Given the description of an element on the screen output the (x, y) to click on. 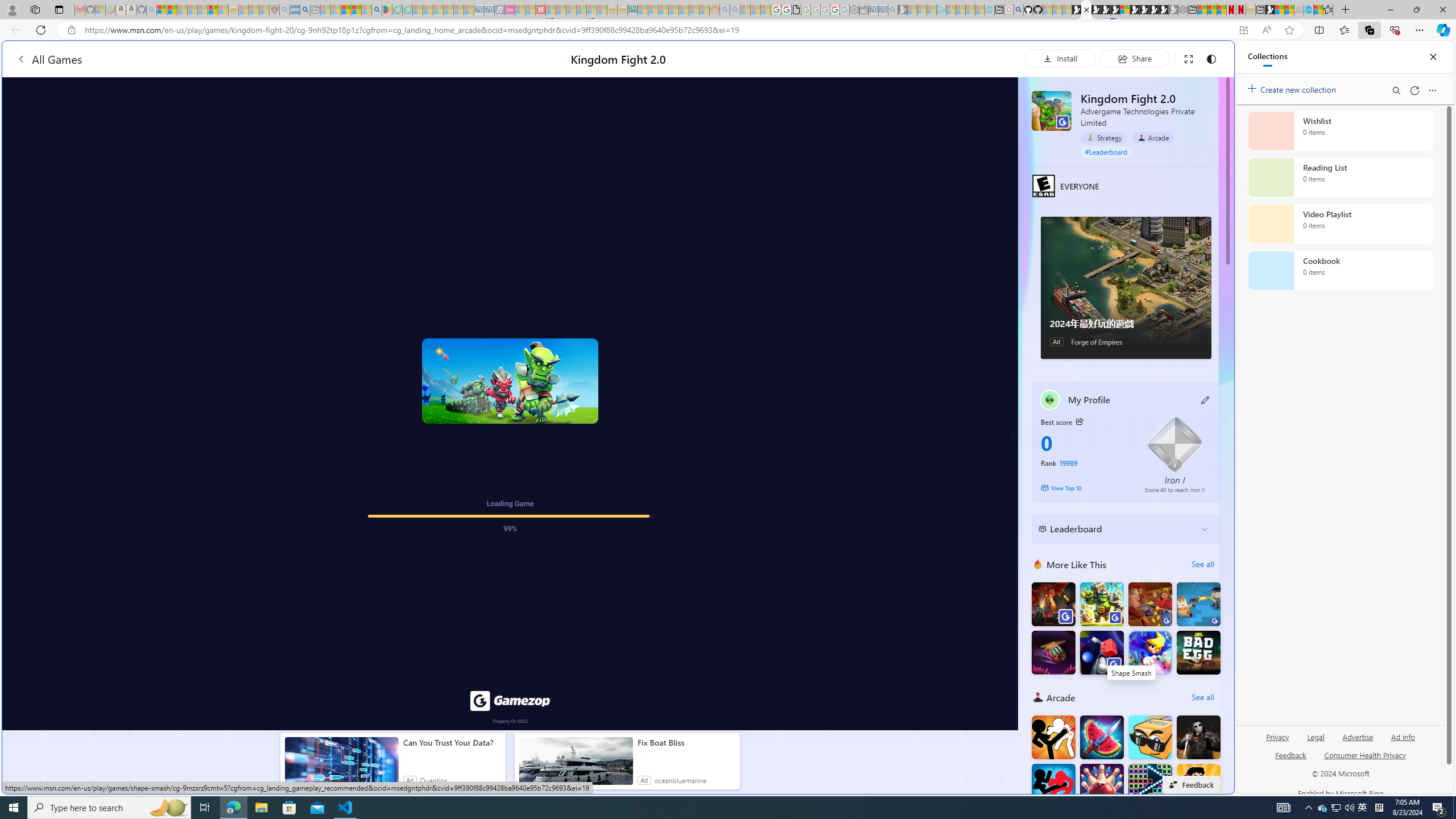
Stickman fighter : Epic battle (1053, 785)
Stickman Fighter : Mega Brawl (1053, 737)
Frequently visited (965, 151)
Wishlist collection, 0 items (1339, 130)
Hunter Hitman (1198, 737)
Share (1134, 58)
Cookbook collection, 0 items (1339, 270)
